Given the description of an element on the screen output the (x, y) to click on. 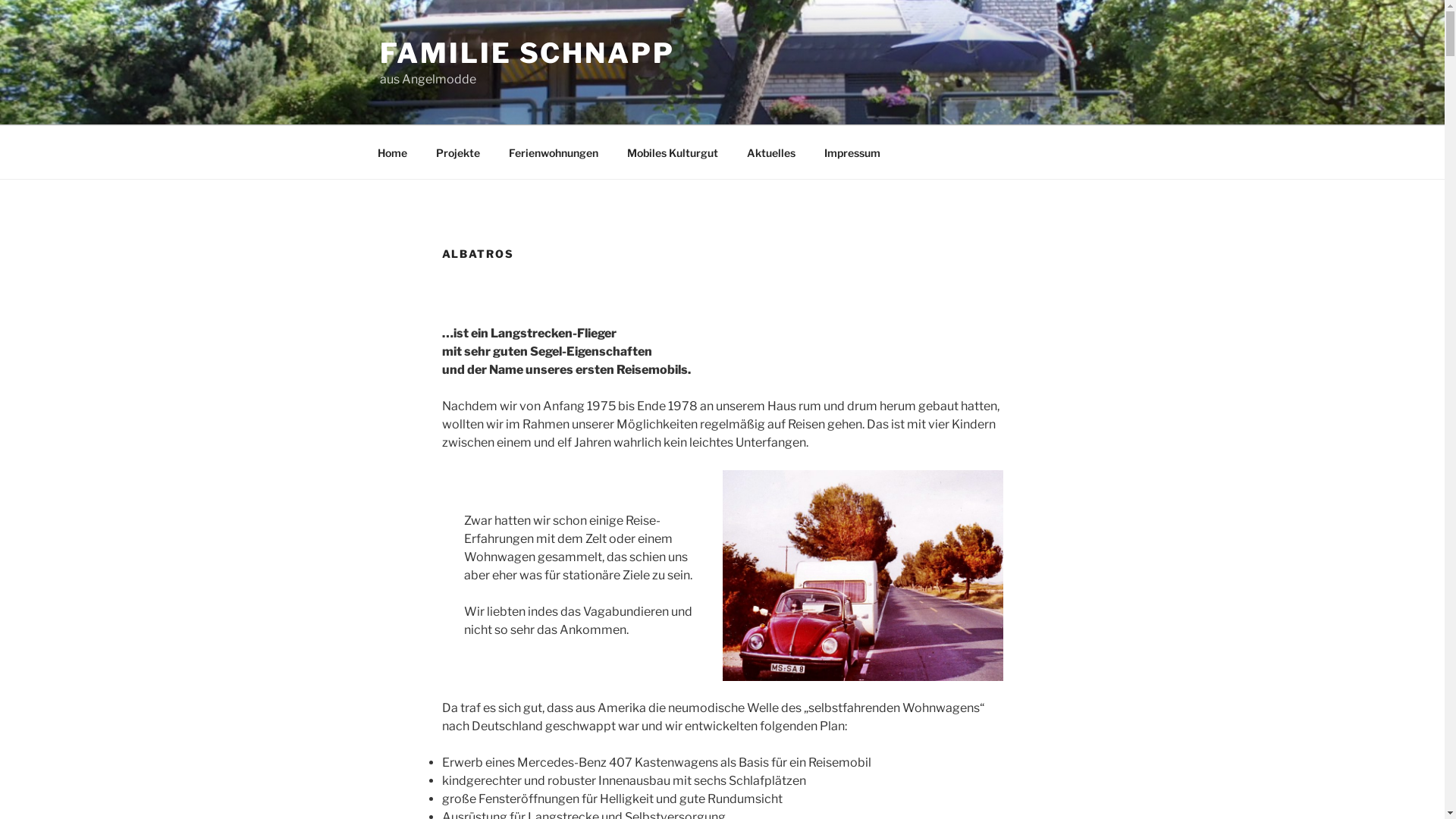
Aktuelles Element type: text (771, 151)
Mobiles Kulturgut Element type: text (672, 151)
FAMILIE SCHNAPP Element type: text (526, 52)
Impressum Element type: text (852, 151)
Ferienwohnungen Element type: text (553, 151)
Home Element type: text (392, 151)
Projekte Element type: text (458, 151)
